Given the description of an element on the screen output the (x, y) to click on. 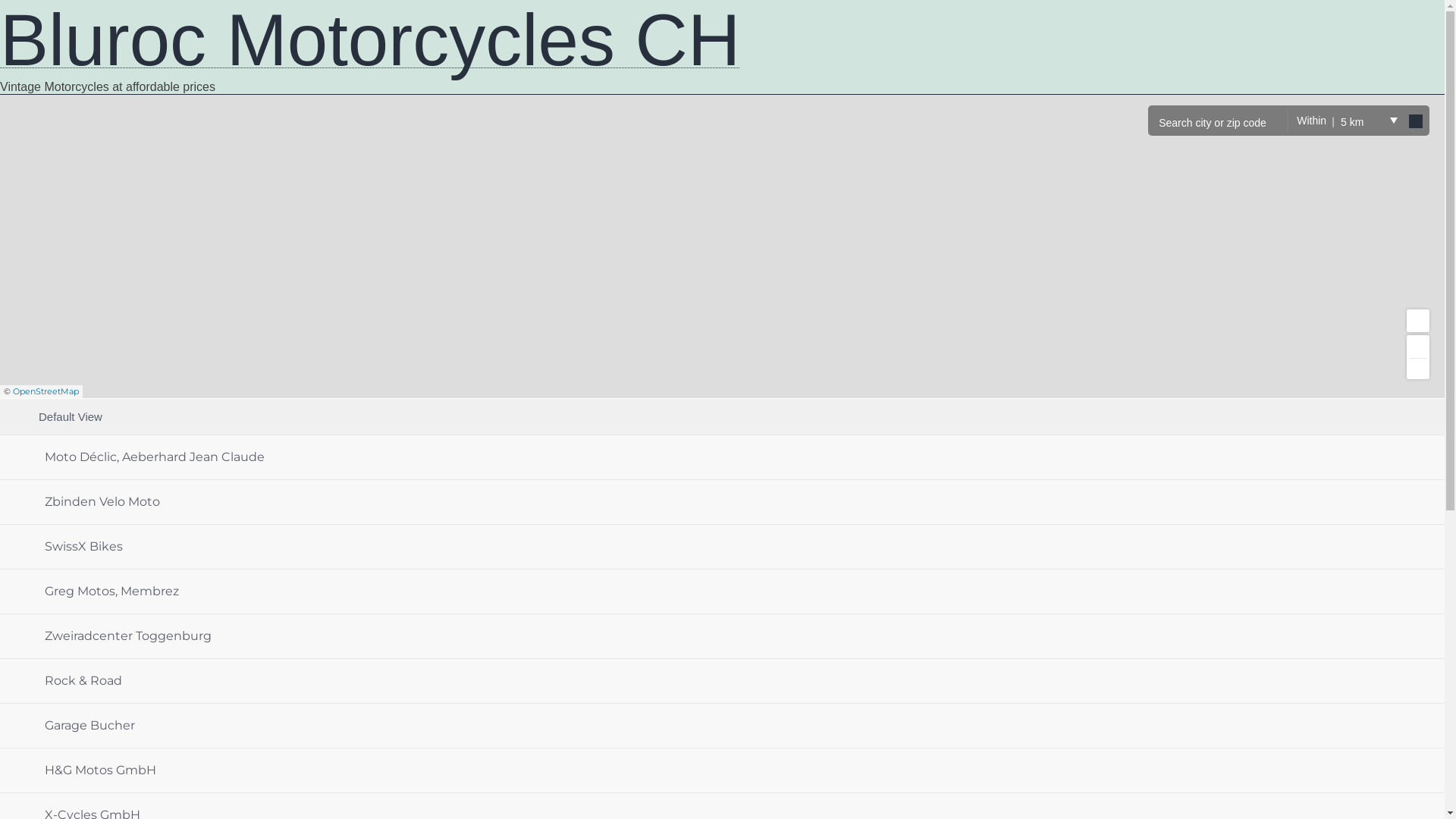
Default View Element type: text (59, 416)
OpenStreetMap Element type: text (45, 390)
Search Element type: text (1415, 121)
